Given the description of an element on the screen output the (x, y) to click on. 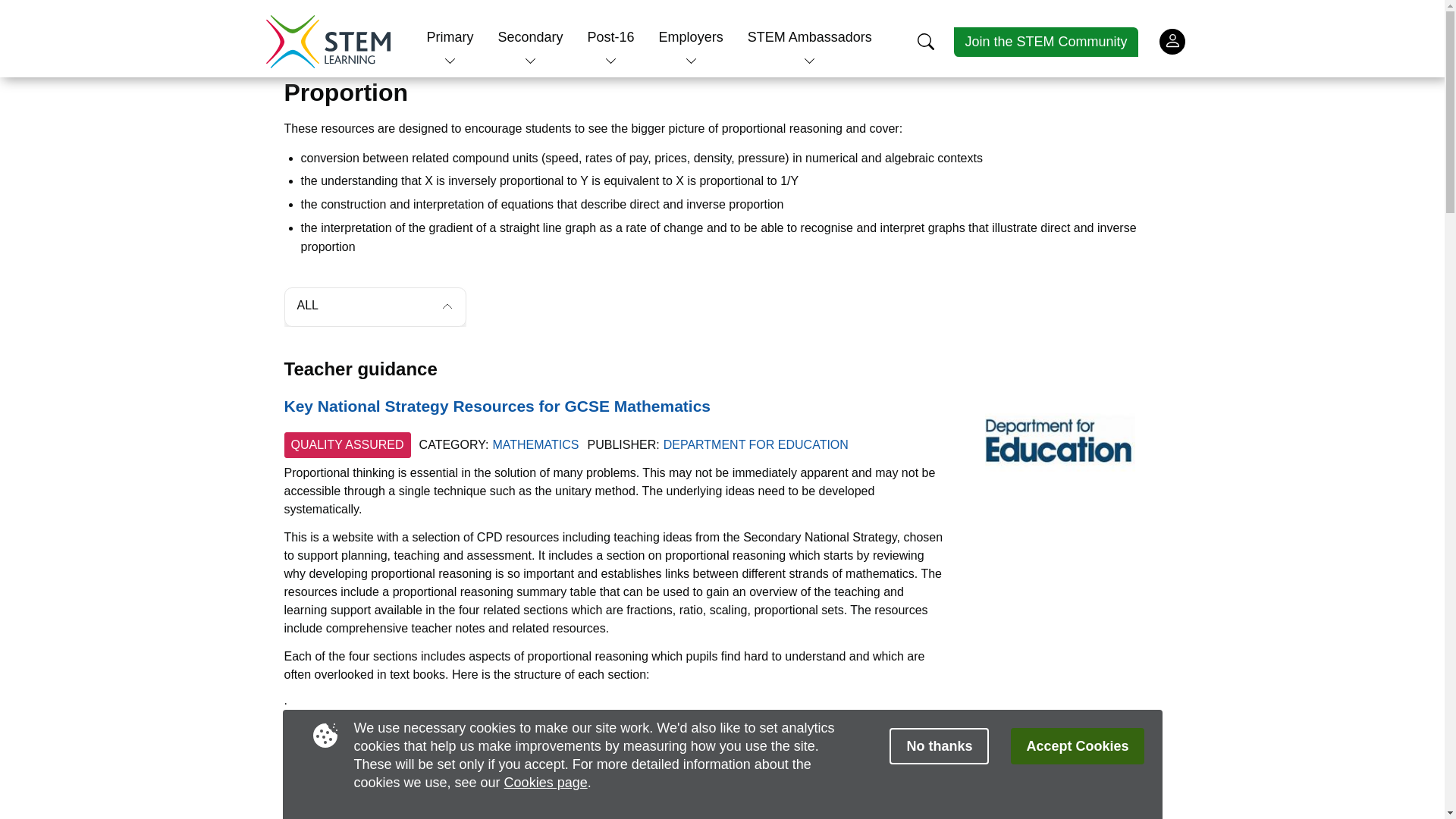
Employers (691, 37)
Secondary (529, 37)
STEM Ambassadors (810, 37)
Primary (449, 37)
Post-16 (611, 37)
Home (327, 40)
